Given the description of an element on the screen output the (x, y) to click on. 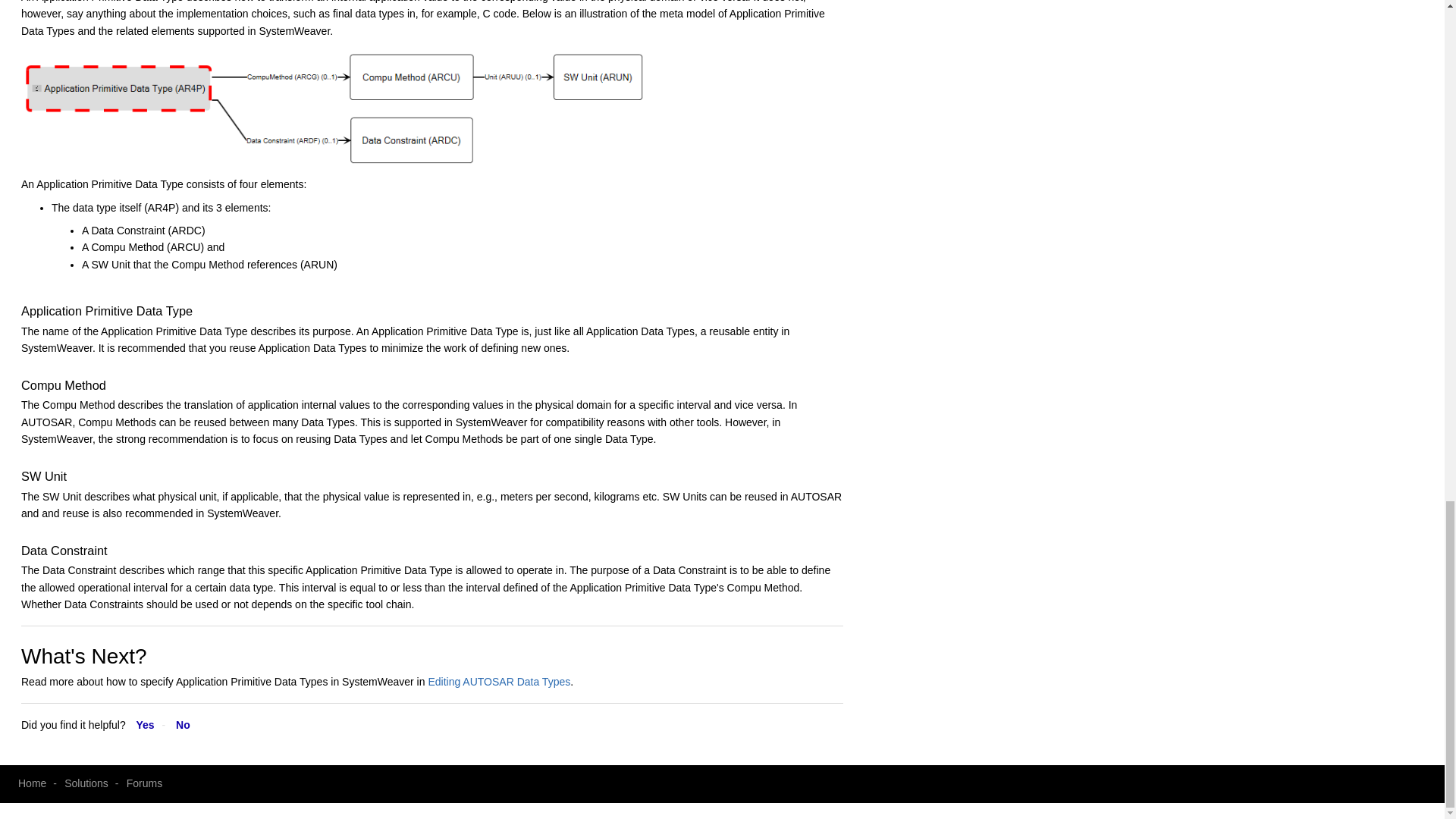
Home (31, 783)
Editing AUTOSAR Data Types (499, 681)
Forums (143, 783)
Solutions (85, 783)
